Given the description of an element on the screen output the (x, y) to click on. 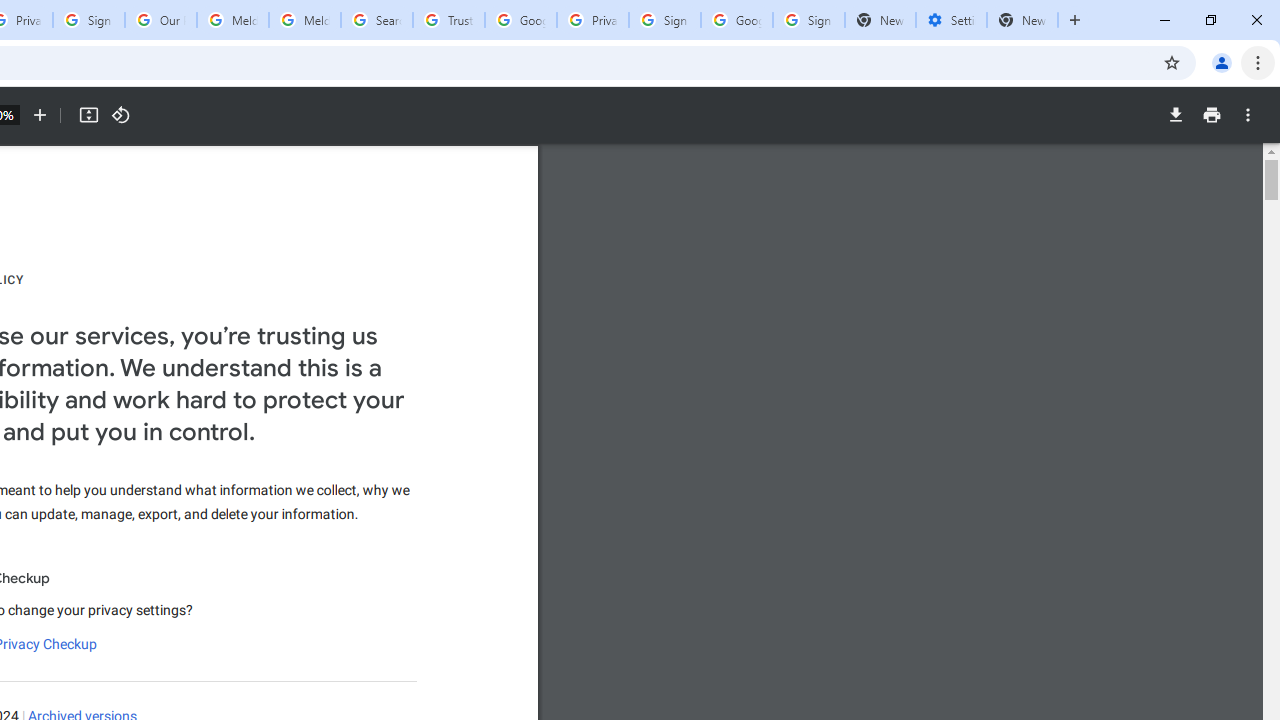
Print (1211, 115)
Download (1175, 115)
Fit to page (87, 115)
Sign in - Google Accounts (88, 20)
Sign in - Google Accounts (808, 20)
Sign in - Google Accounts (664, 20)
Trusted Information and Content - Google Safety Center (449, 20)
Rotate counterclockwise (119, 115)
More actions (1247, 115)
